Given the description of an element on the screen output the (x, y) to click on. 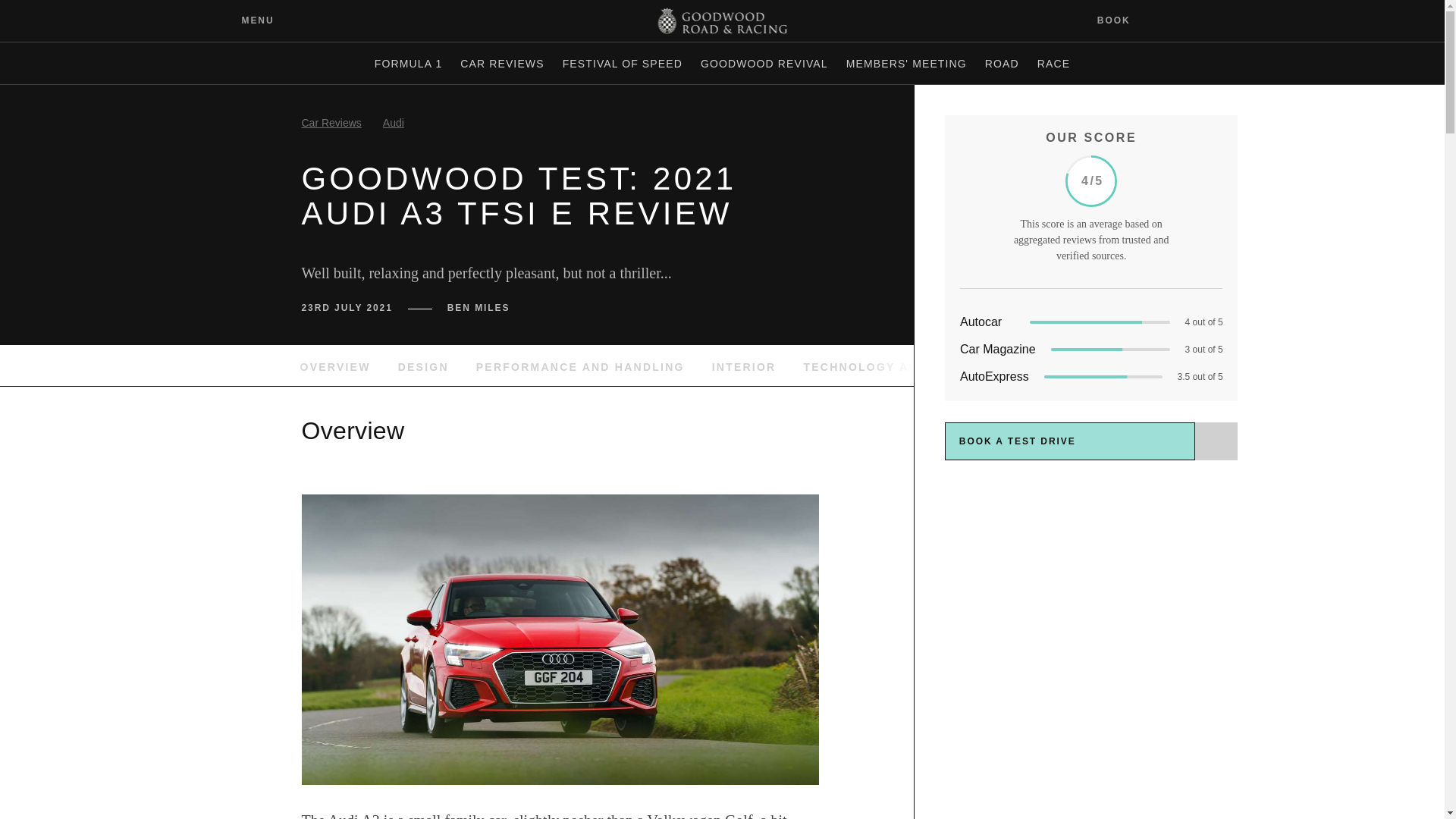
GOODWOOD REVIVAL (764, 63)
ROAD (1001, 63)
MENU (246, 20)
RACE (1053, 63)
CAR REVIEWS (502, 63)
FESTIVAL OF SPEED (622, 63)
MEMBERS' MEETING (906, 63)
